Given the description of an element on the screen output the (x, y) to click on. 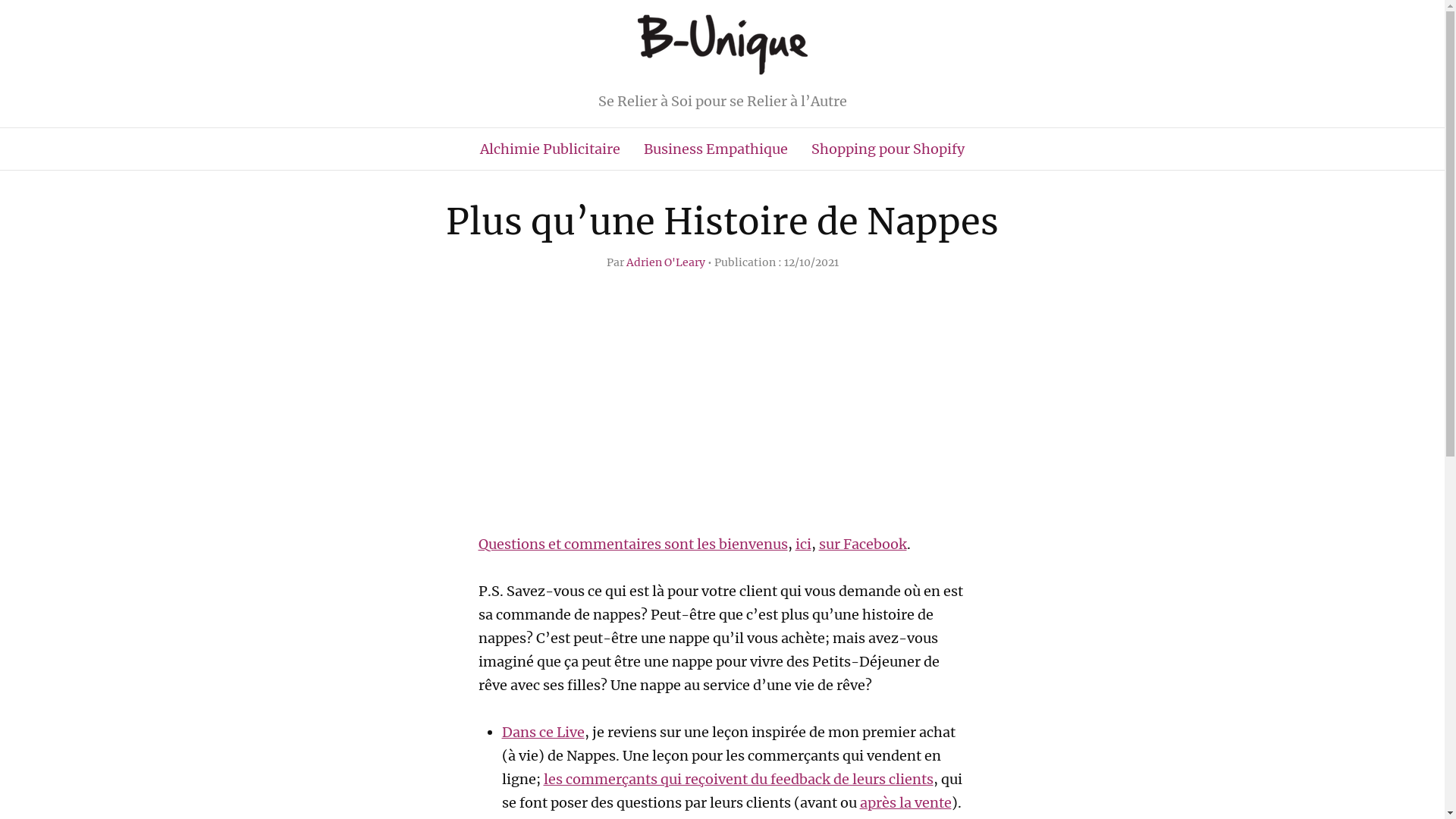
ici Element type: text (802, 543)
Alchimie Publicitaire Element type: text (550, 148)
Adrien O'Leary Element type: text (665, 262)
Questions et commentaires sont les bienvenus Element type: text (632, 543)
Shopping pour Shopify Element type: text (887, 148)
Business Empathique Element type: text (715, 148)
sur Facebook Element type: text (862, 543)
Dans ce Live Element type: text (543, 731)
